Given the description of an element on the screen output the (x, y) to click on. 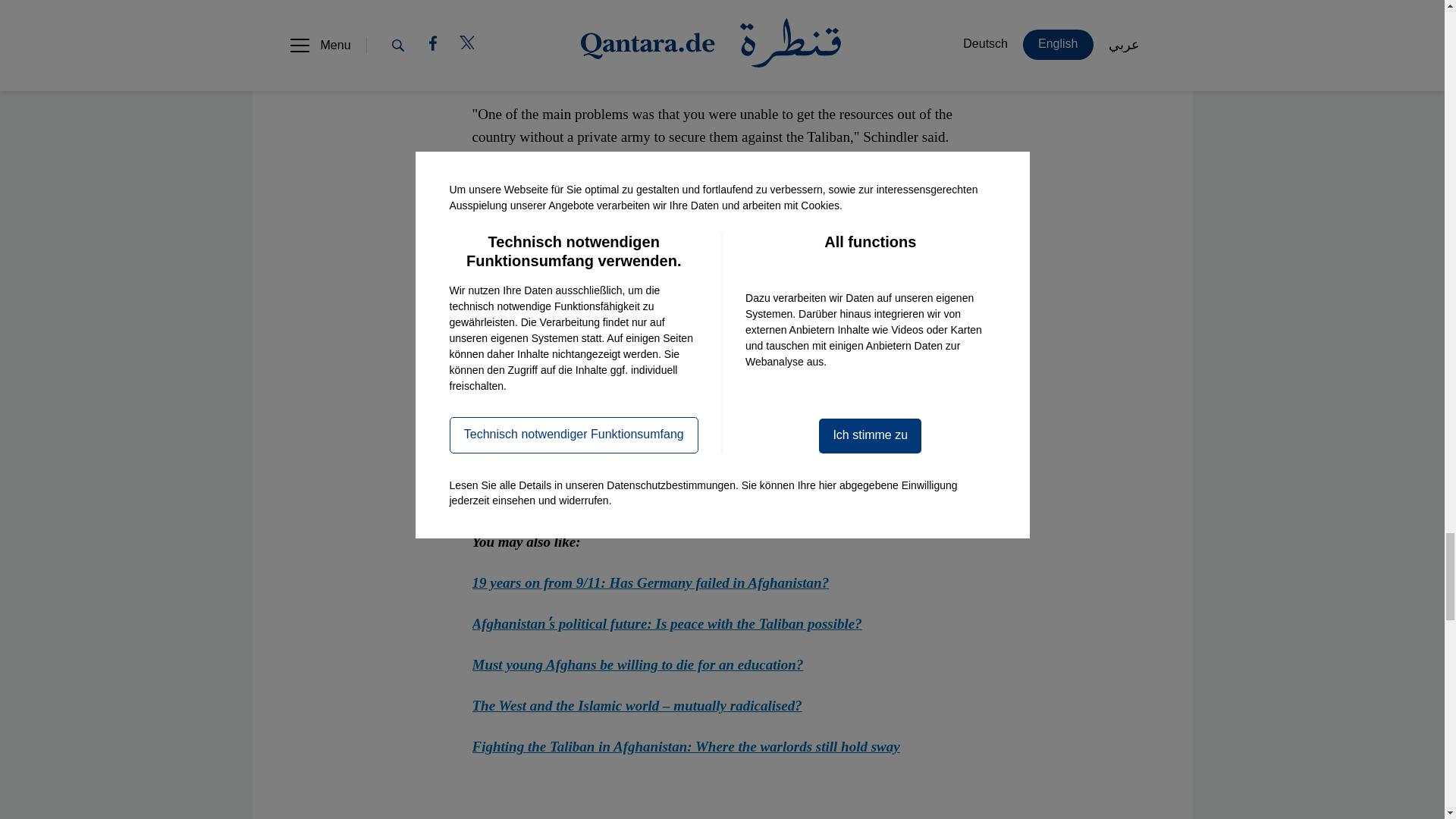
Must young Afghans be willing to die for an education? (637, 664)
